Given the description of an element on the screen output the (x, y) to click on. 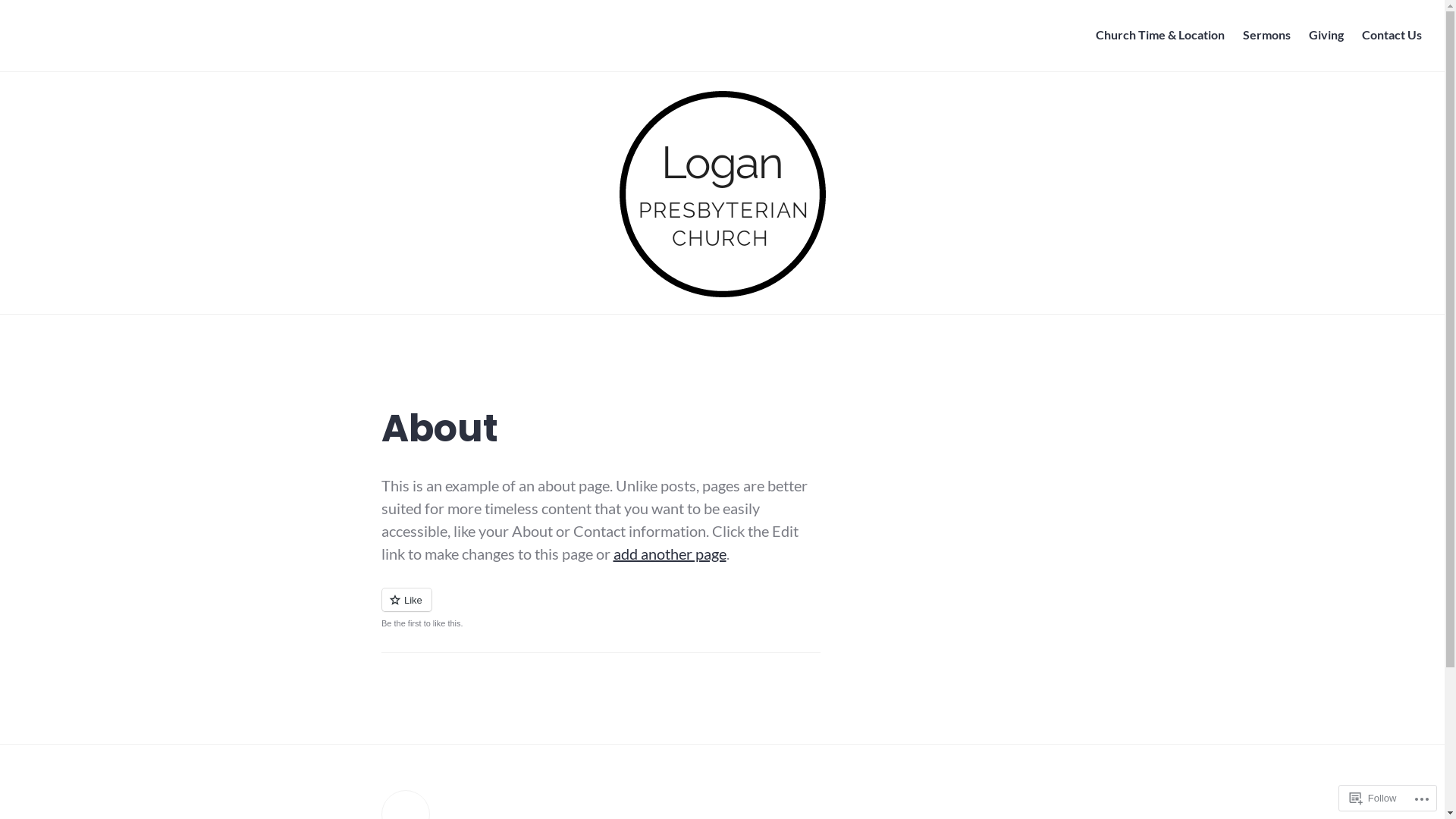
Church Time & Location Element type: text (1159, 35)
Sermons Element type: text (1266, 35)
Logan Presbyterian Church Element type: text (157, 46)
add another page Element type: text (668, 553)
Follow Element type: text (1372, 797)
Contact Us Element type: text (1391, 35)
Giving Element type: text (1325, 35)
Like or Reblog Element type: hover (600, 608)
